Given the description of an element on the screen output the (x, y) to click on. 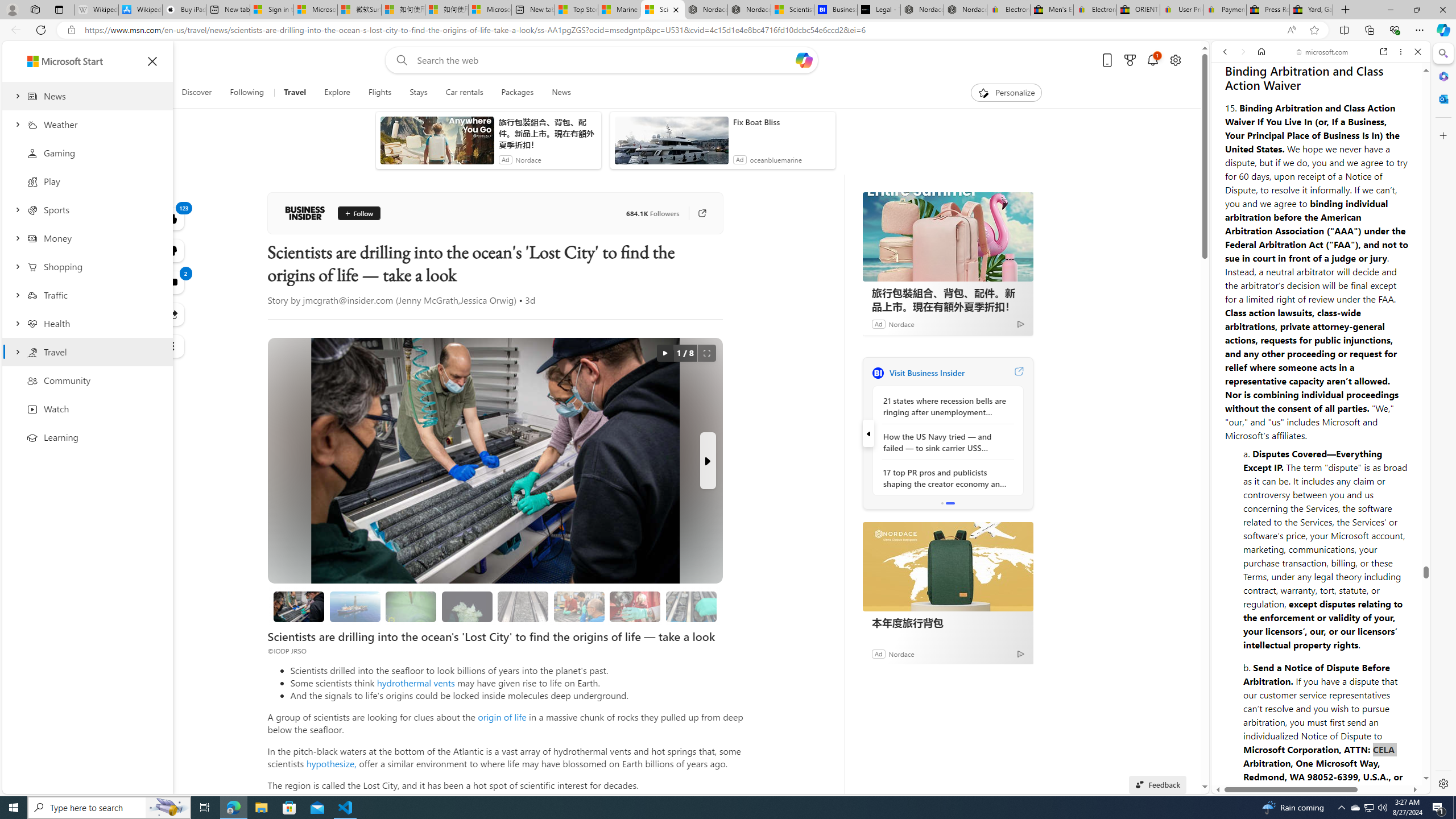
Business Insider (305, 213)
The Lost City could hold clues to the origin of life. (466, 606)
Class: progress (691, 604)
Car rentals (464, 92)
Packages (517, 92)
Packages (517, 92)
previous (867, 433)
